Given the description of an element on the screen output the (x, y) to click on. 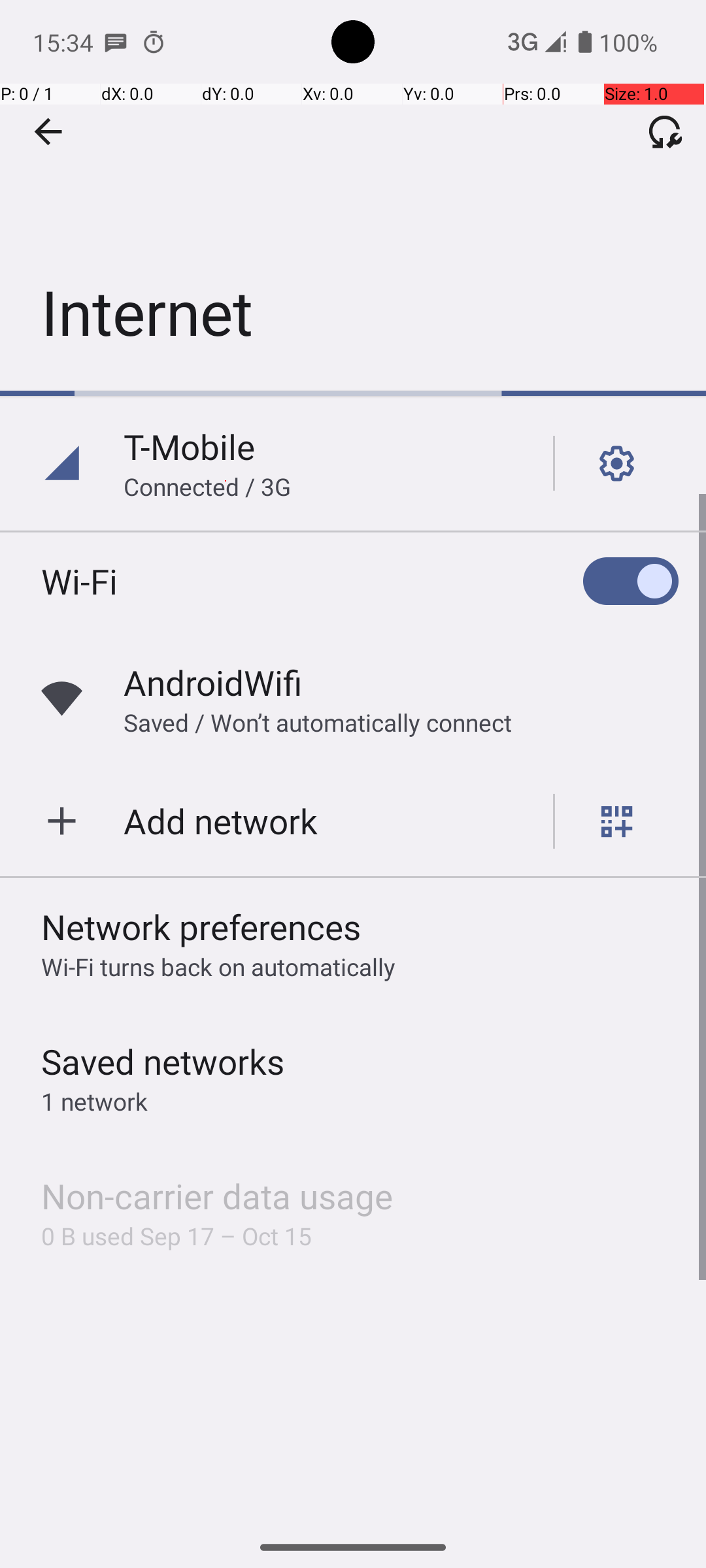
Fix connectivity Element type: android.widget.TextView (664, 131)
AndroidWifi,Saved / Won’t automatically connect,Wifi signal full.,Open network Element type: android.widget.LinearLayout (353, 698)
Connected / 3G Element type: android.widget.TextView (206, 486)
AndroidWifi Element type: android.widget.TextView (212, 682)
Saved / Won’t automatically connect Element type: android.widget.TextView (317, 721)
Add network Element type: android.widget.TextView (220, 820)
Scan QR code Element type: android.widget.ImageButton (616, 821)
Network preferences Element type: android.widget.TextView (201, 926)
Wi‑Fi turns back on automatically Element type: android.widget.TextView (218, 966)
Saved networks Element type: android.widget.TextView (163, 1061)
1 network Element type: android.widget.TextView (94, 1100)
Non-carrier data usage Element type: android.widget.TextView (216, 1195)
0 B used Sep 17 – Oct 15 Element type: android.widget.TextView (176, 1235)
